Given the description of an element on the screen output the (x, y) to click on. 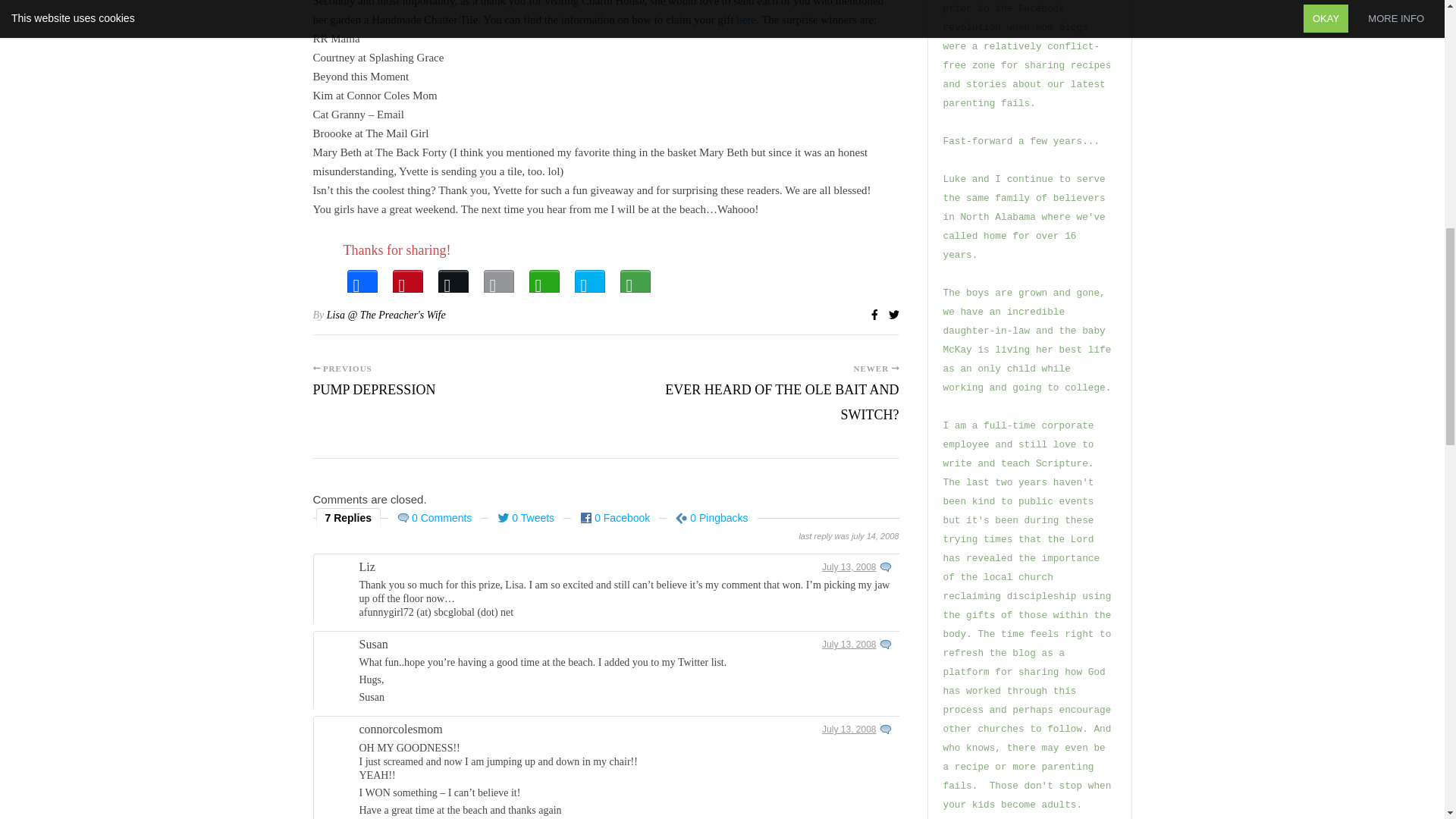
Email This (498, 277)
More Options (635, 277)
Pump Depression (374, 396)
here (744, 19)
0 Comments (434, 517)
WhatsApp (544, 277)
PrintFriendly (589, 277)
0 Facebook (614, 517)
0 Tweets (525, 517)
Facebook (362, 277)
July 13, 2008 (849, 566)
Ever Heard of The Ole Bait and Switch? (752, 409)
0 Pingbacks (711, 517)
7 Replies (349, 517)
Pinterest (407, 277)
